Given the description of an element on the screen output the (x, y) to click on. 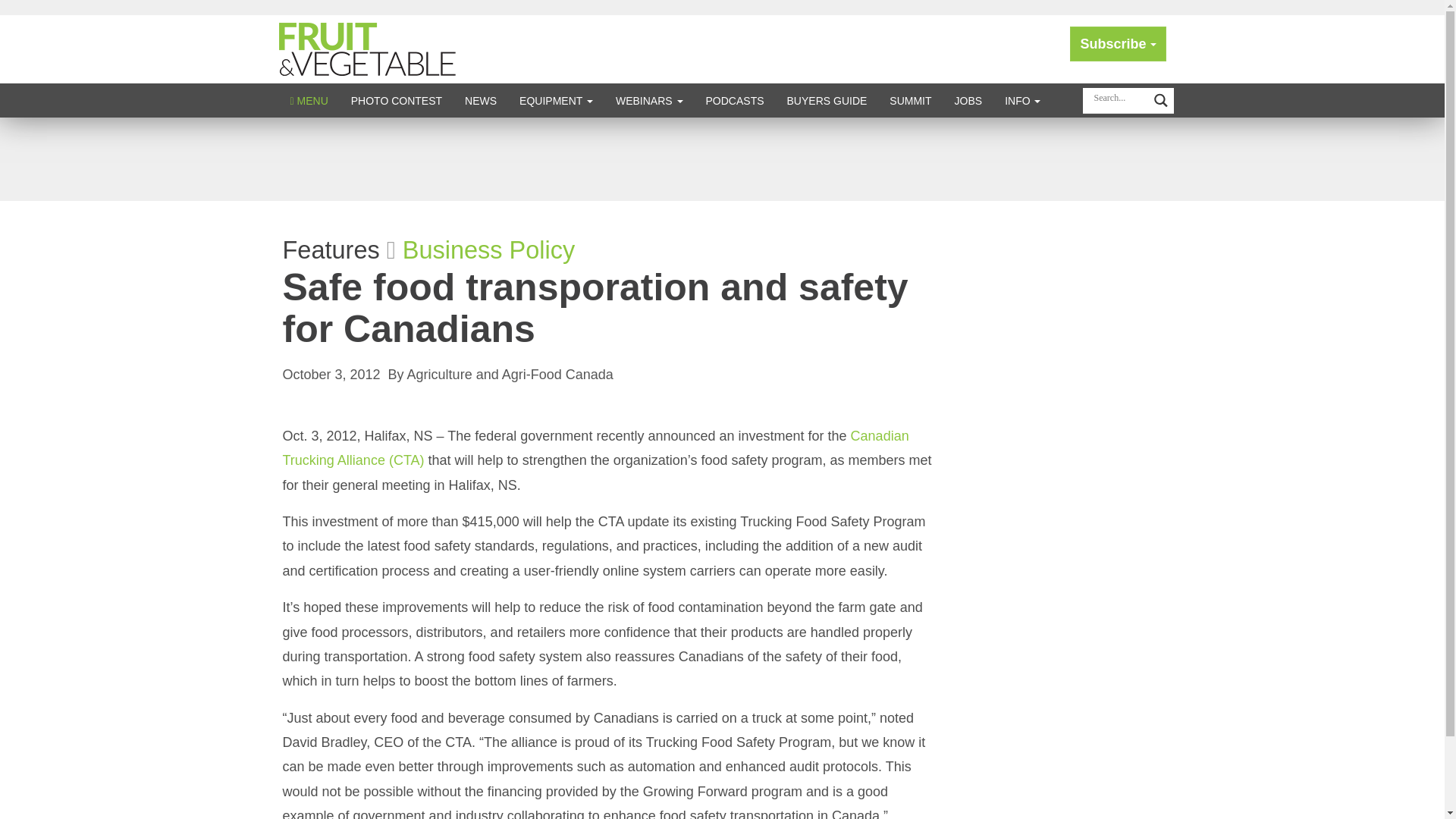
SUMMIT (909, 100)
MENU (309, 100)
Subscribe (1118, 43)
WEBINARS (649, 100)
NEWS (480, 100)
INFO (1021, 100)
3rd party ad content (721, 159)
EQUIPMENT (556, 100)
PHOTO CONTEST (395, 100)
PODCASTS (735, 100)
